Given the description of an element on the screen output the (x, y) to click on. 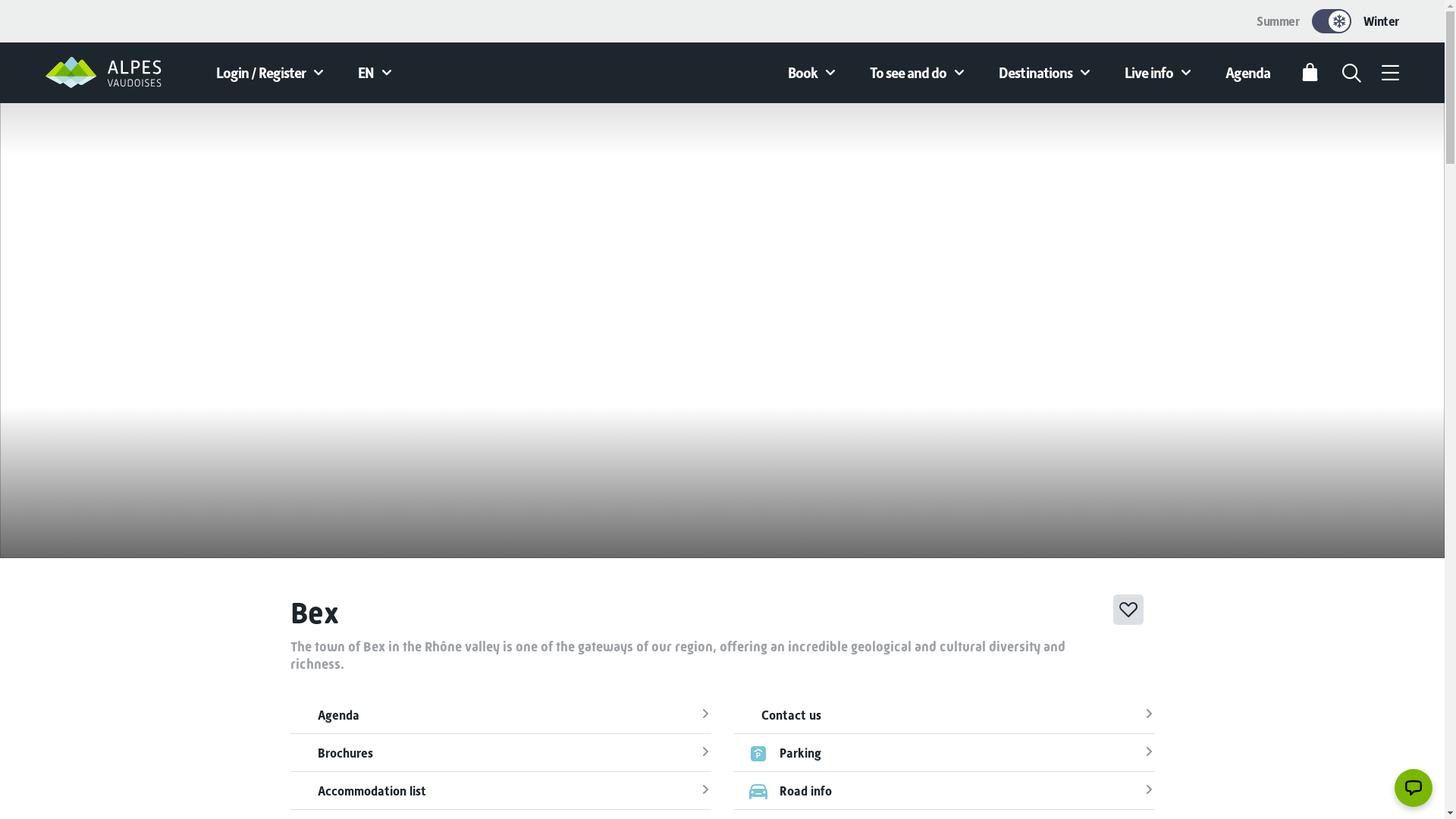
Accommodation list Element type: text (499, 790)
Cart Element type: hover (1309, 72)
Agenda Element type: text (1247, 72)
Brochures Element type: text (499, 752)
Agenda Element type: text (499, 715)
Book Element type: text (813, 72)
Destinations Element type: text (1045, 72)
01 Default/Car
Road info Element type: text (944, 790)
To see and do Element type: text (918, 72)
Contact us Element type: text (944, 715)
Live info Element type: text (1159, 72)
01 Default/Parkhouse
Parking Element type: text (944, 752)
